Given the description of an element on the screen output the (x, y) to click on. 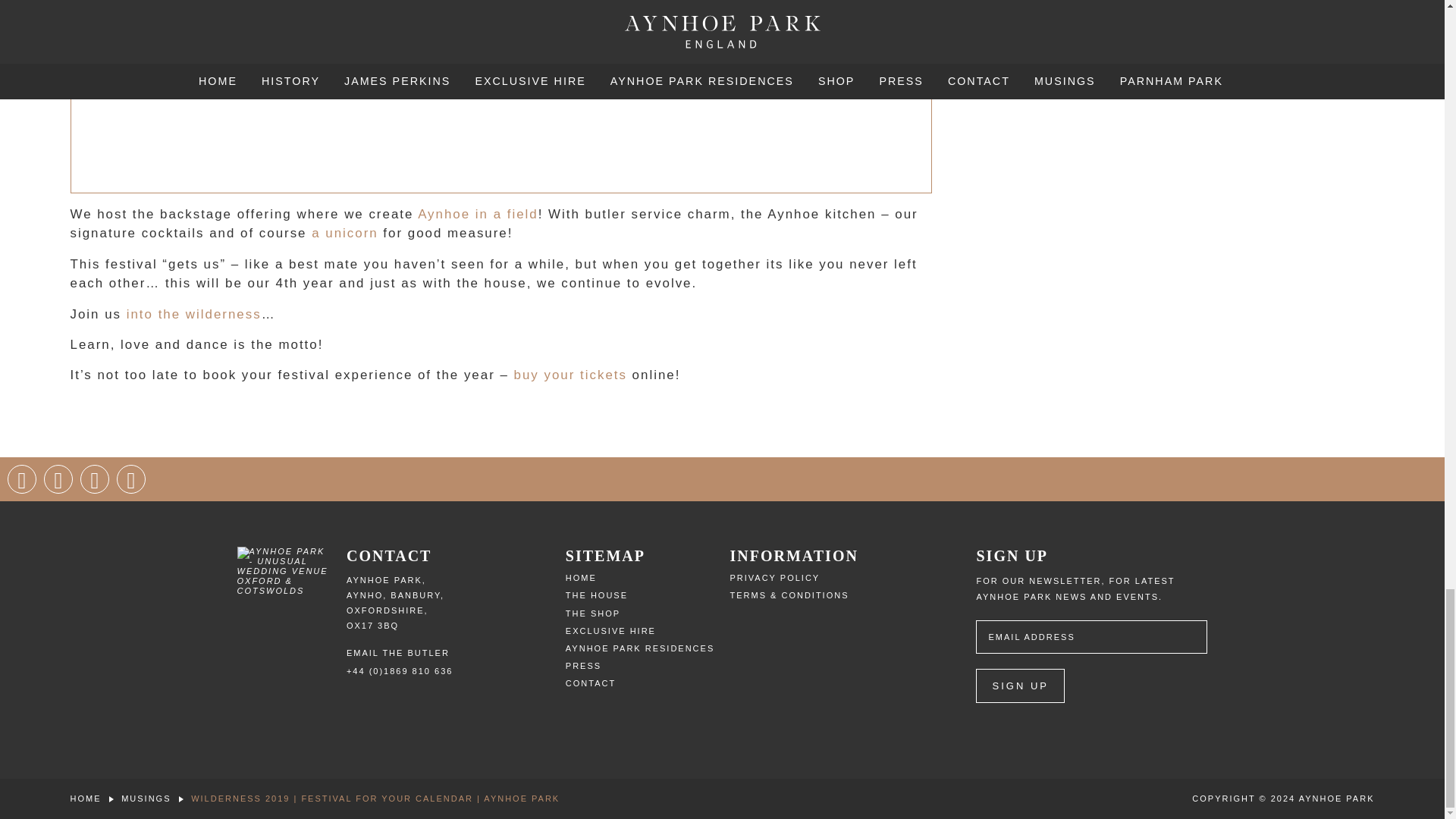
buy your tickets (570, 374)
THE HOUSE (596, 594)
EMAIL THE BUTLER (397, 652)
HOME (581, 577)
Go to Musings. (145, 798)
Aynhoe in a field (477, 214)
into the wilderness (194, 314)
a unicorn (344, 233)
Go to Aynhoe Park. (84, 798)
